Given the description of an element on the screen output the (x, y) to click on. 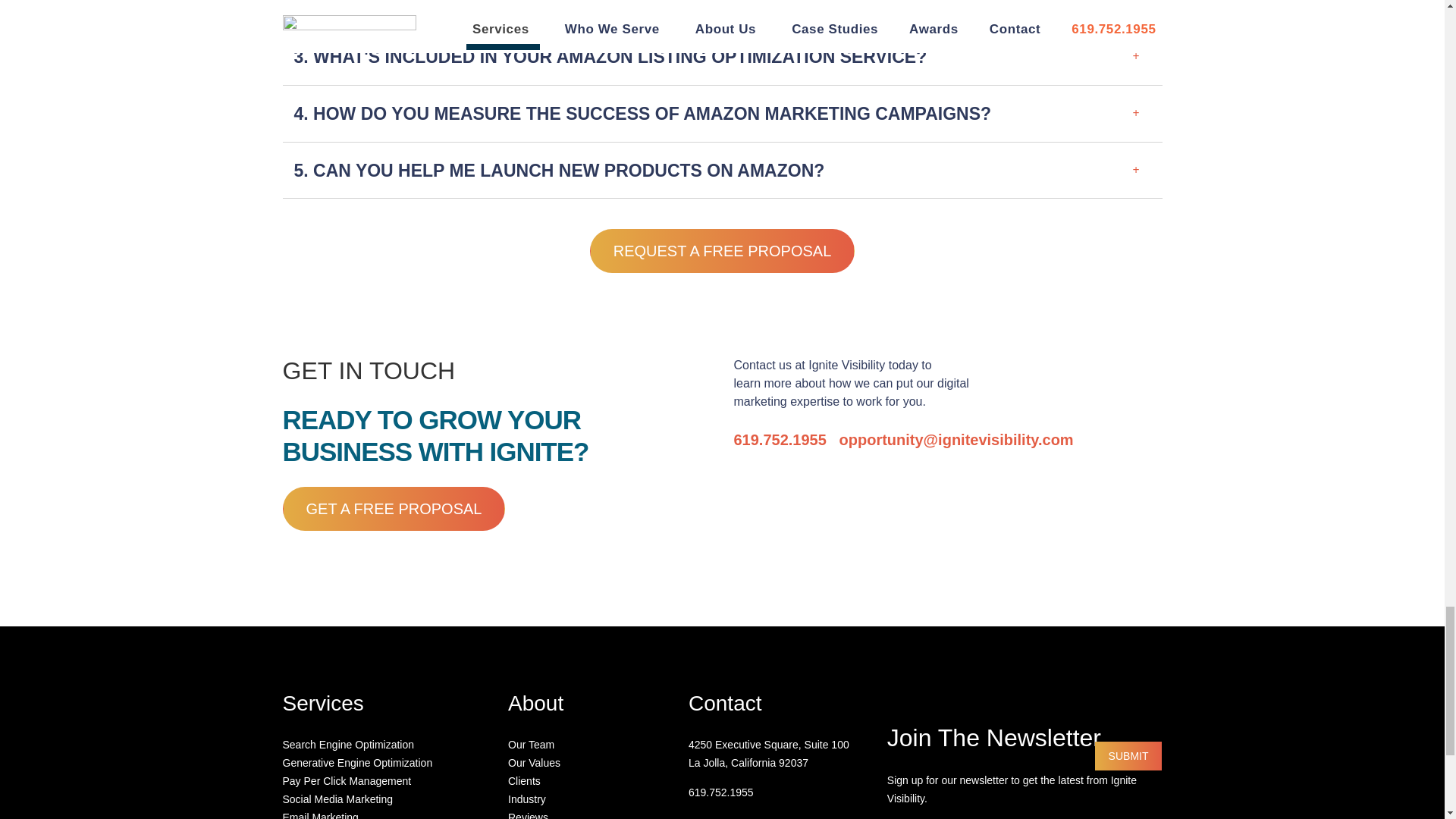
GEO Services (357, 762)
Social Media Marketing Services (337, 799)
SEO Services (347, 744)
Email Services (320, 815)
PPC Services (346, 780)
Submit (1127, 756)
